Given the description of an element on the screen output the (x, y) to click on. 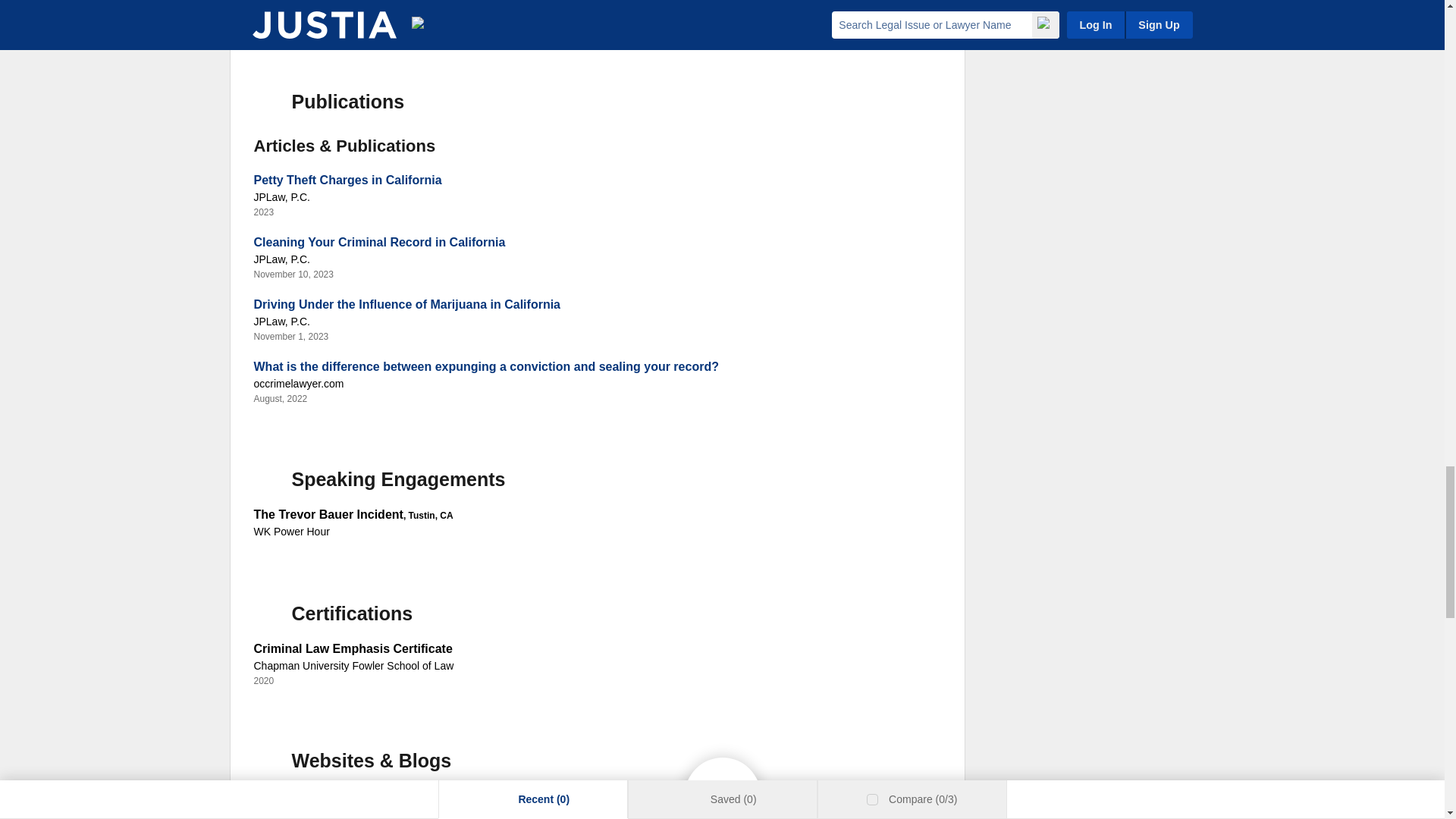
Cleaning Your Criminal Record in California (379, 241)
Driving Under the Influence of Marijuana in California (406, 304)
Petty Theft Charges in California (347, 179)
